Given the description of an element on the screen output the (x, y) to click on. 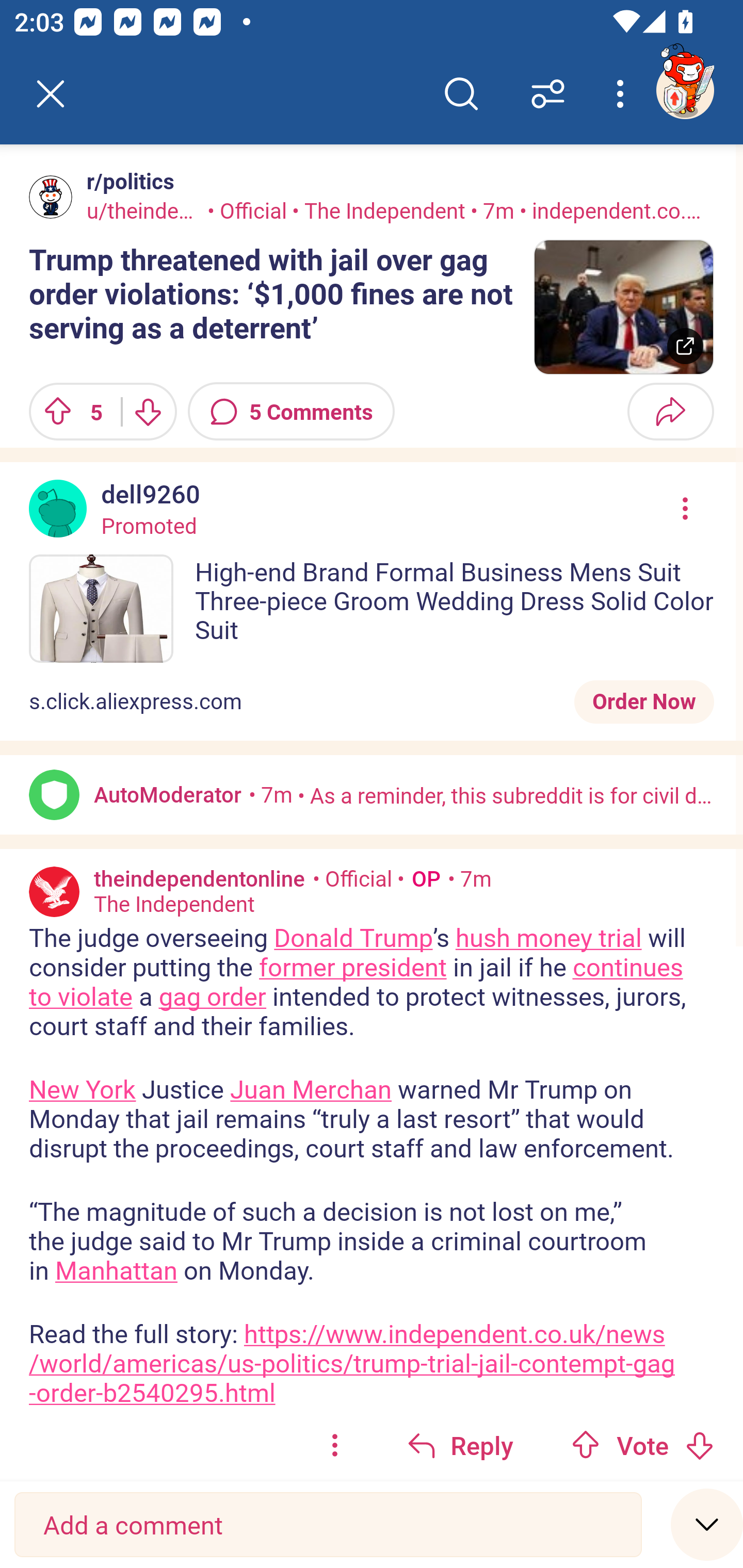
Back (50, 93)
TestAppium002 account (685, 90)
Search comments (460, 93)
Sort comments (547, 93)
More options (623, 93)
r/politics (126, 181)
Avatar (50, 196)
u/theindependentonline (144, 210)
 • independent.co.uk (610, 210)
Thumbnail image (623, 306)
Upvote 5 (67, 411)
Downvote (146, 411)
5 Comments (290, 411)
Share (670, 411)
Avatar (53, 794)
• 7m (270, 794)
OP (422, 877)
• 7m (469, 877)
Avatar (53, 892)
The Independent (173, 904)
options (334, 1445)
Reply (460, 1445)
Upvote Vote Downvote (642, 1445)
Upvote (585, 1444)
Downvote (699, 1444)
Speed read (706, 1524)
Add a comment (327, 1524)
